Given the description of an element on the screen output the (x, y) to click on. 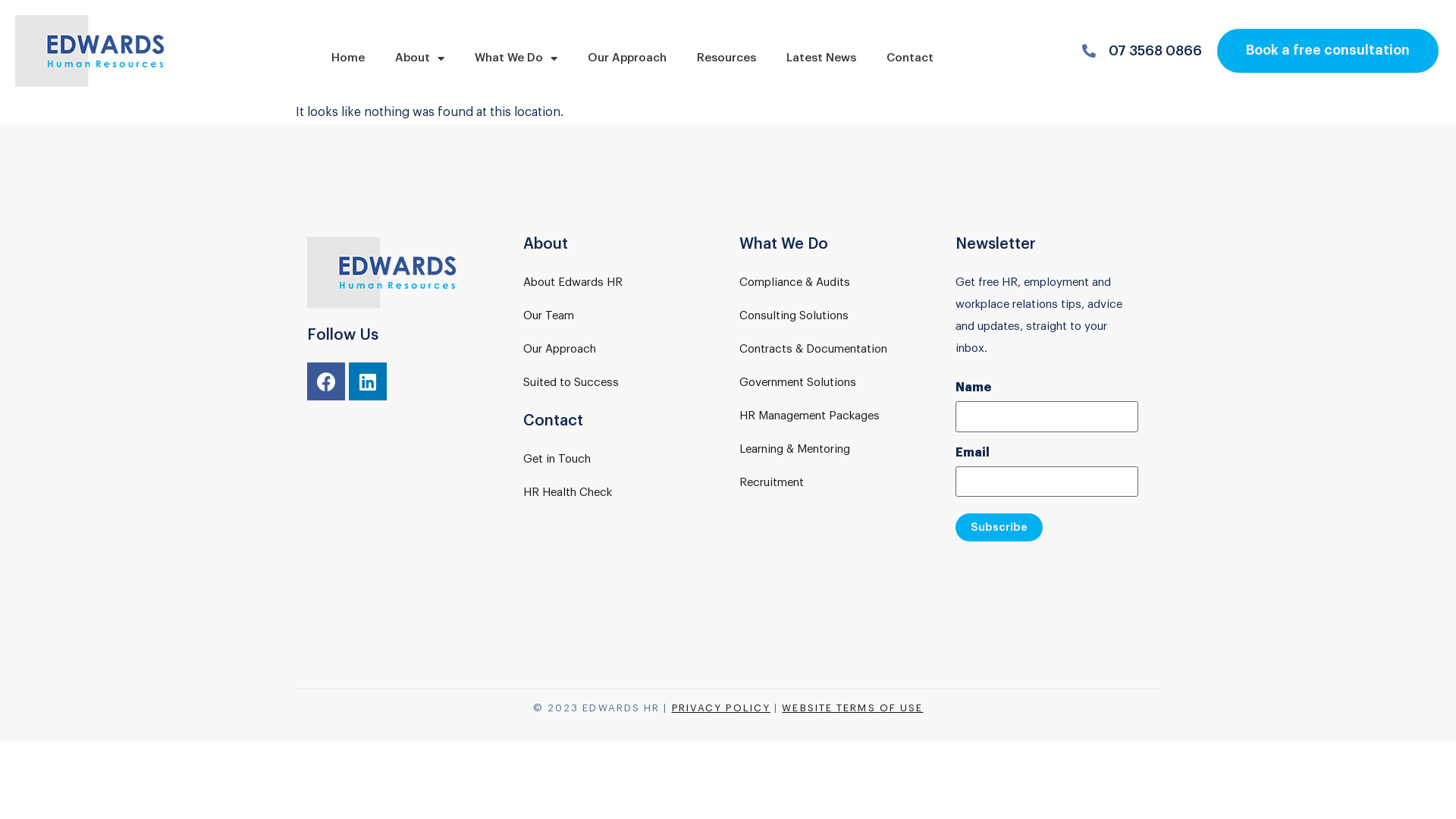
What We Do Element type: text (515, 57)
Resources Element type: text (726, 57)
Suited to Success Element type: text (570, 382)
Contracts & Documentation Element type: text (813, 348)
Recruitment Element type: text (771, 482)
About Edwards HR Element type: text (572, 282)
Our Approach Element type: text (559, 348)
Learning & Mentoring Element type: text (794, 449)
Subscribe Element type: text (998, 527)
Compliance & Audits Element type: text (794, 282)
PRIVACY POLICY Element type: text (720, 707)
07 3568 0866 Element type: text (1141, 50)
Latest News Element type: text (821, 57)
HR Management Packages Element type: text (809, 415)
WEBSITE TERMS OF USE Element type: text (851, 707)
Home Element type: text (347, 57)
Contact Element type: text (909, 57)
Our Team Element type: text (548, 315)
Government Solutions Element type: text (797, 382)
Consulting Solutions Element type: text (793, 315)
HR Health Check Element type: text (567, 492)
Book a free consultation Element type: text (1327, 50)
Our Approach Element type: text (626, 57)
About Element type: text (419, 57)
Get in Touch Element type: text (556, 458)
